Given the description of an element on the screen output the (x, y) to click on. 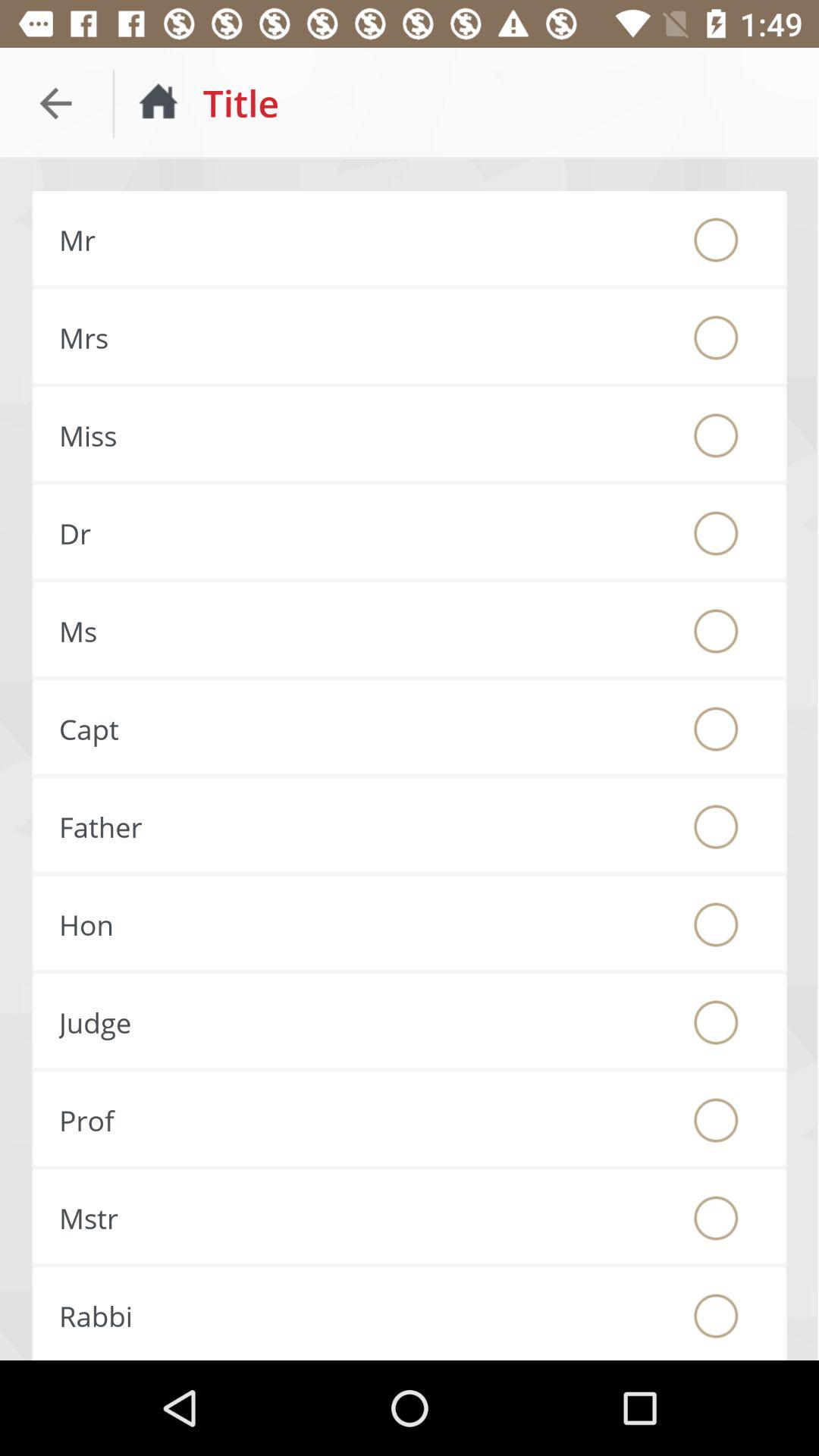
select title for name (715, 1315)
